Given the description of an element on the screen output the (x, y) to click on. 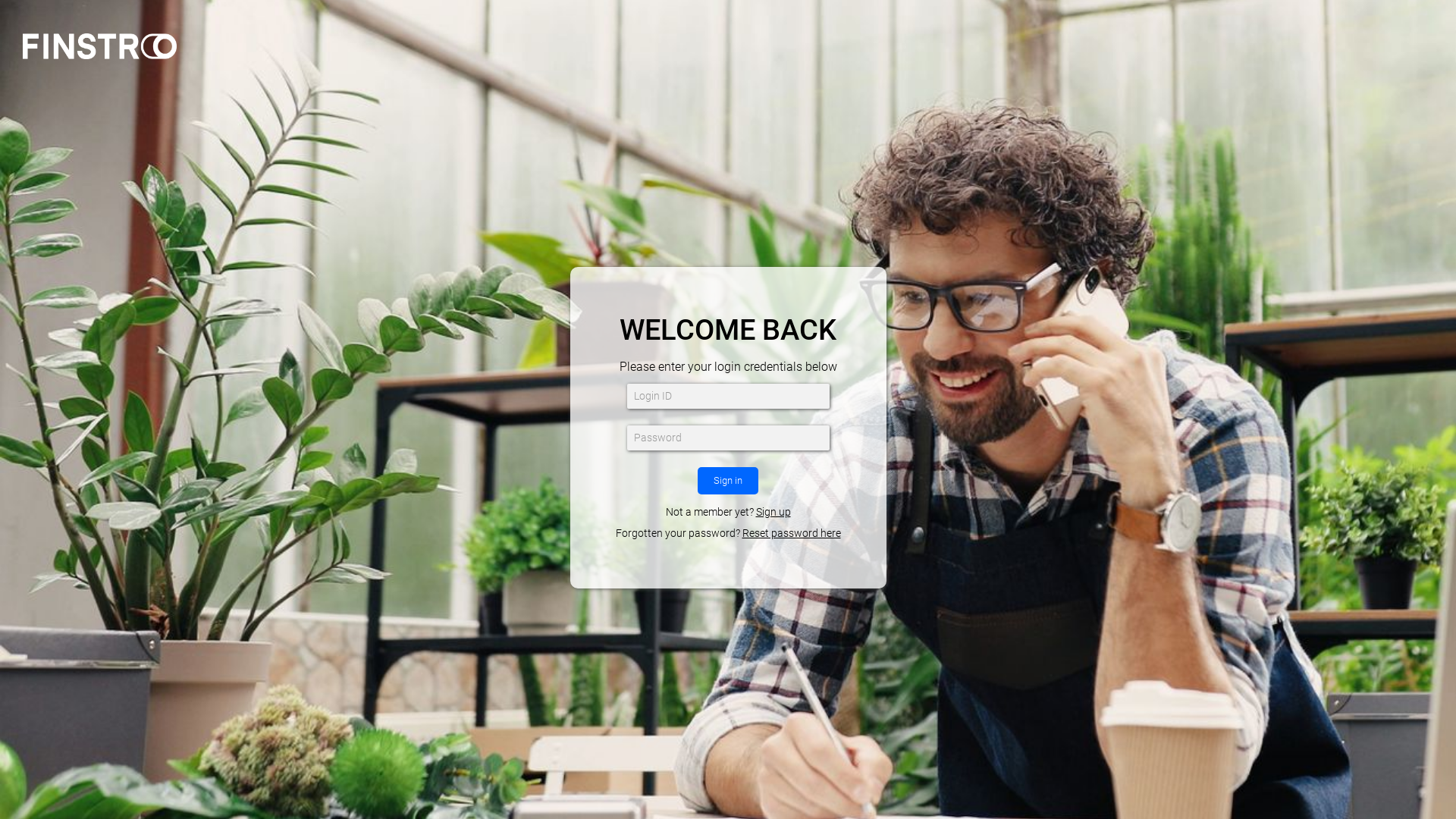
Reset password here Element type: text (790, 533)
Sign up Element type: text (772, 512)
Sign in Element type: text (727, 480)
